Given the description of an element on the screen output the (x, y) to click on. 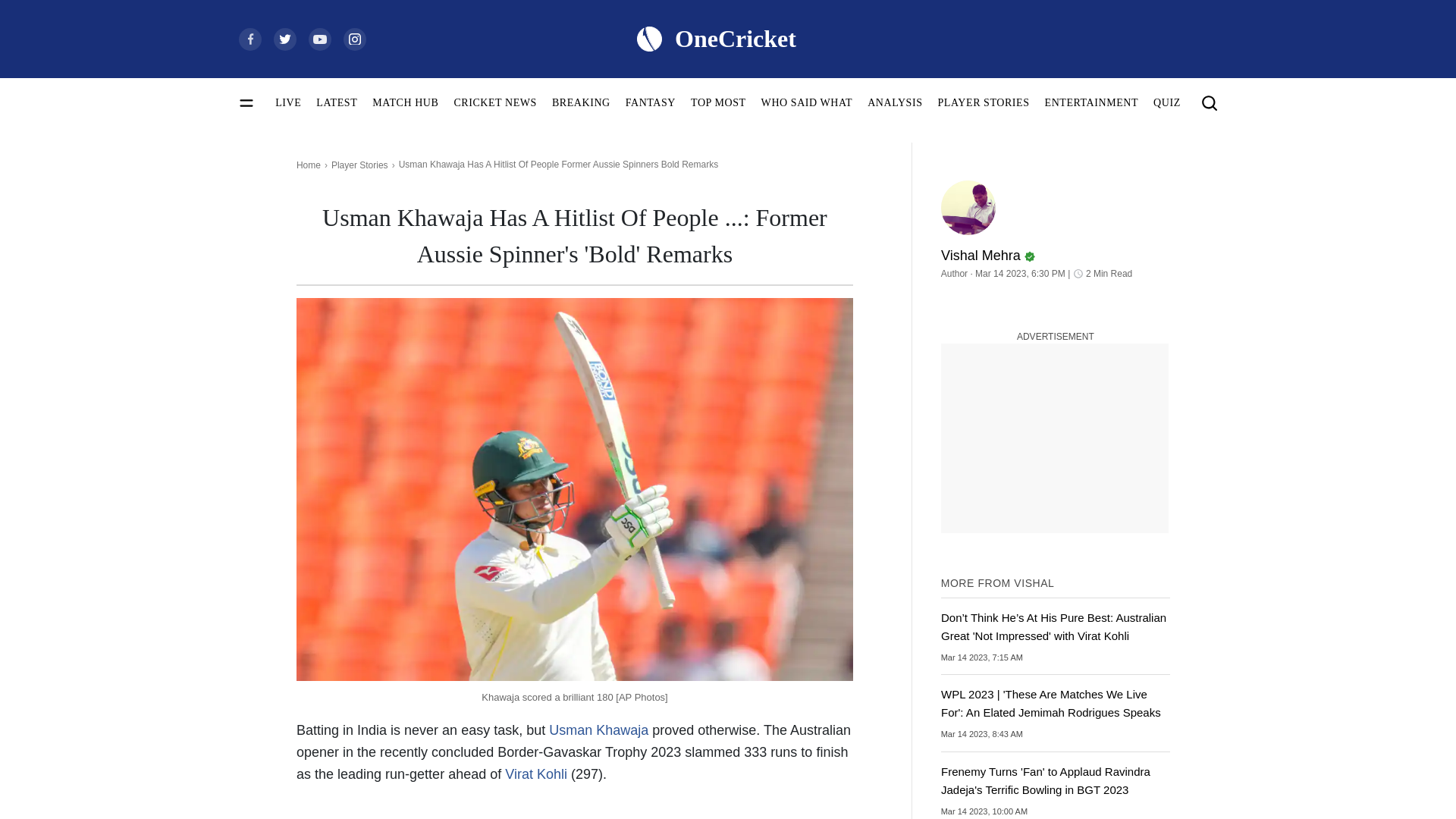
Usman Khawaja (597, 729)
Player Stories (359, 164)
Vishal Mehra (1055, 249)
PLAYER STORIES (983, 102)
MATCH HUB (405, 102)
Home (308, 164)
WHO SAID WHAT (807, 102)
OneCricket (715, 38)
LIVE (288, 102)
CRICKET NEWS (494, 102)
ANALYSIS (894, 102)
Vishal Mehra (967, 207)
LATEST (335, 102)
